Given the description of an element on the screen output the (x, y) to click on. 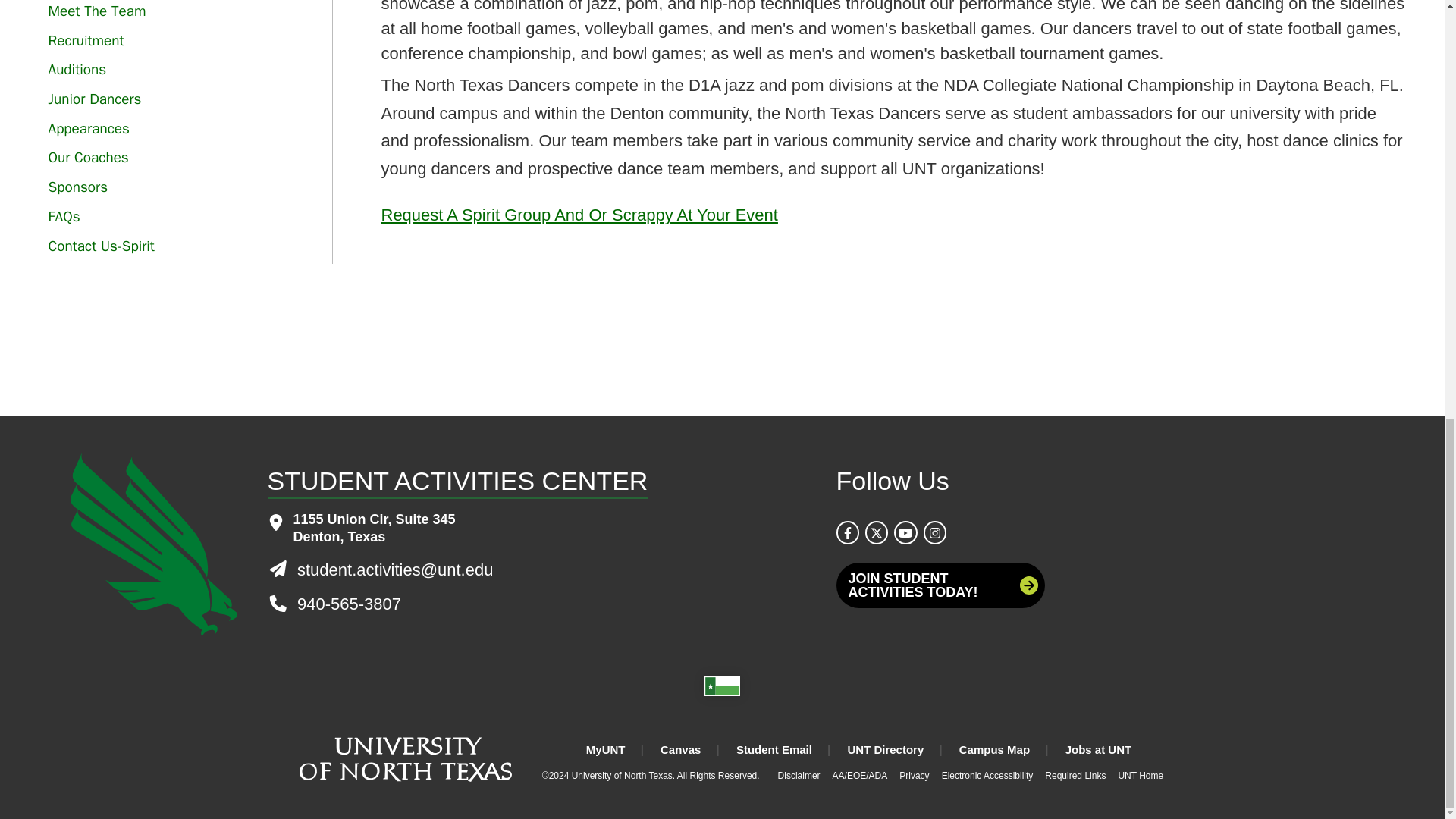
Request a spirit group or scrappy at your event (578, 214)
